Given the description of an element on the screen output the (x, y) to click on. 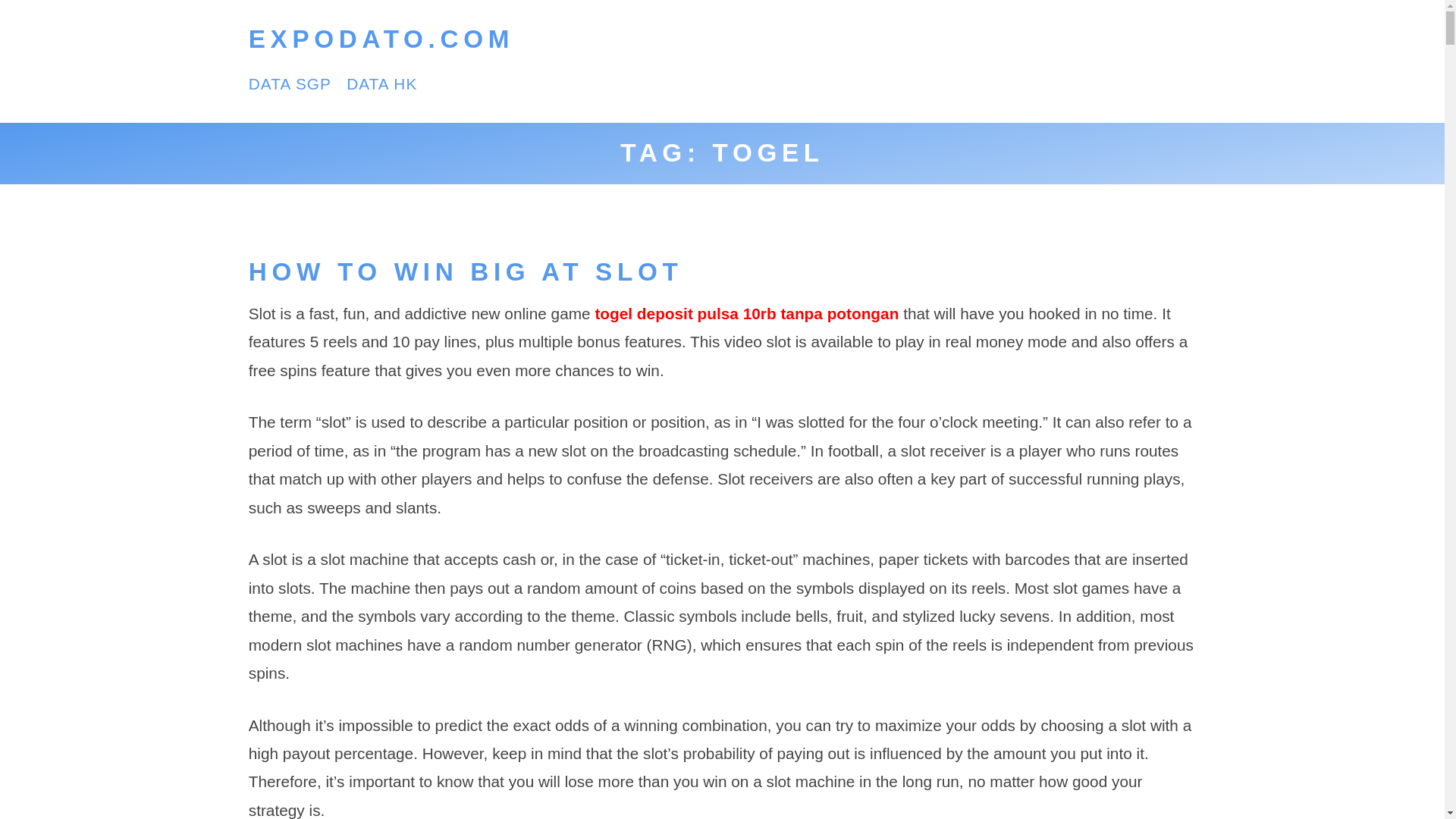
DATA HK (381, 83)
DATA SGP (289, 83)
EXPODATO.COM (380, 39)
togel deposit pulsa 10rb tanpa potongan (746, 313)
HOW TO WIN BIG AT SLOT (465, 271)
